Given the description of an element on the screen output the (x, y) to click on. 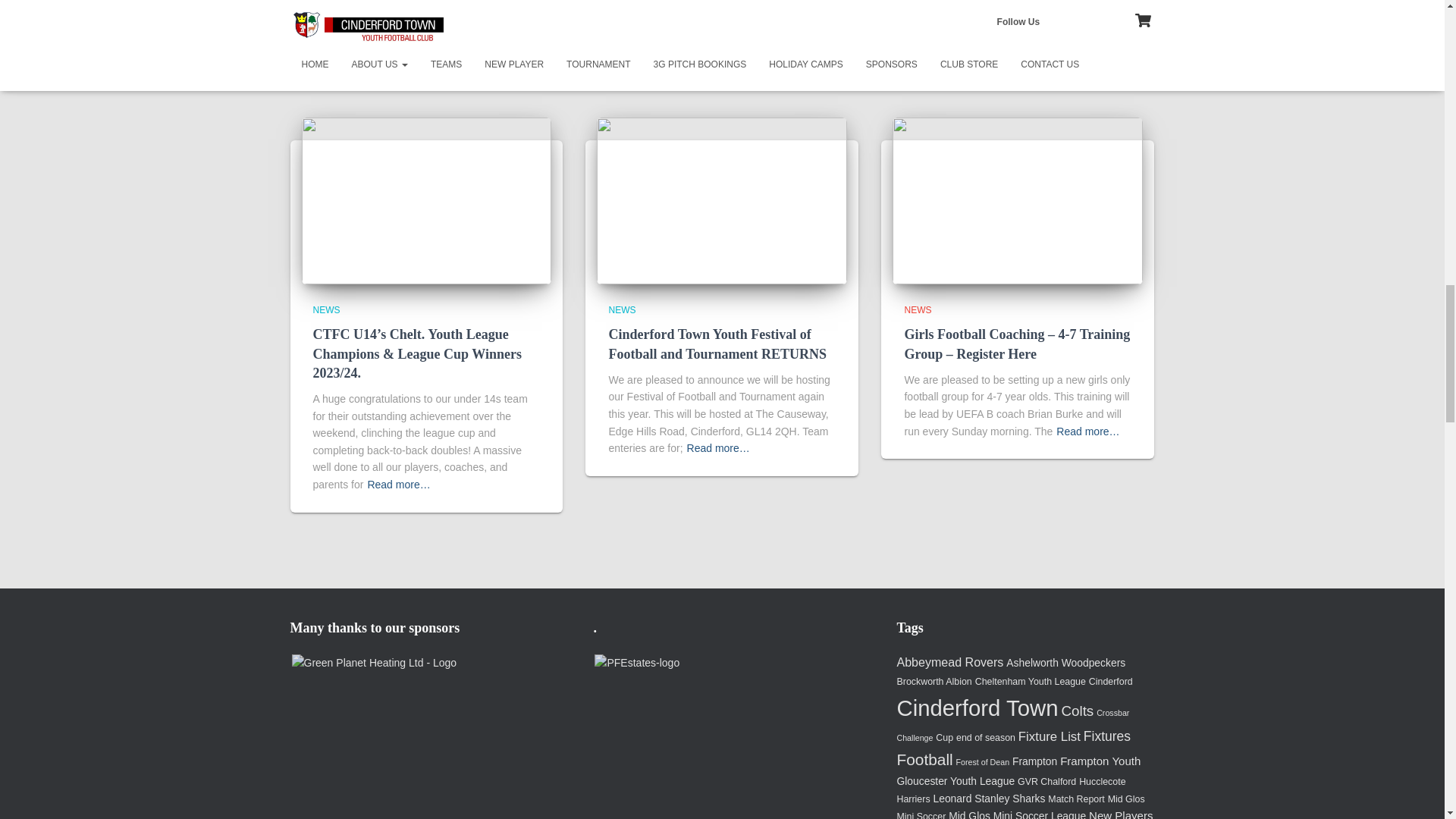
View all posts in News (326, 309)
NEWS (621, 309)
NEWS (326, 309)
